Given the description of an element on the screen output the (x, y) to click on. 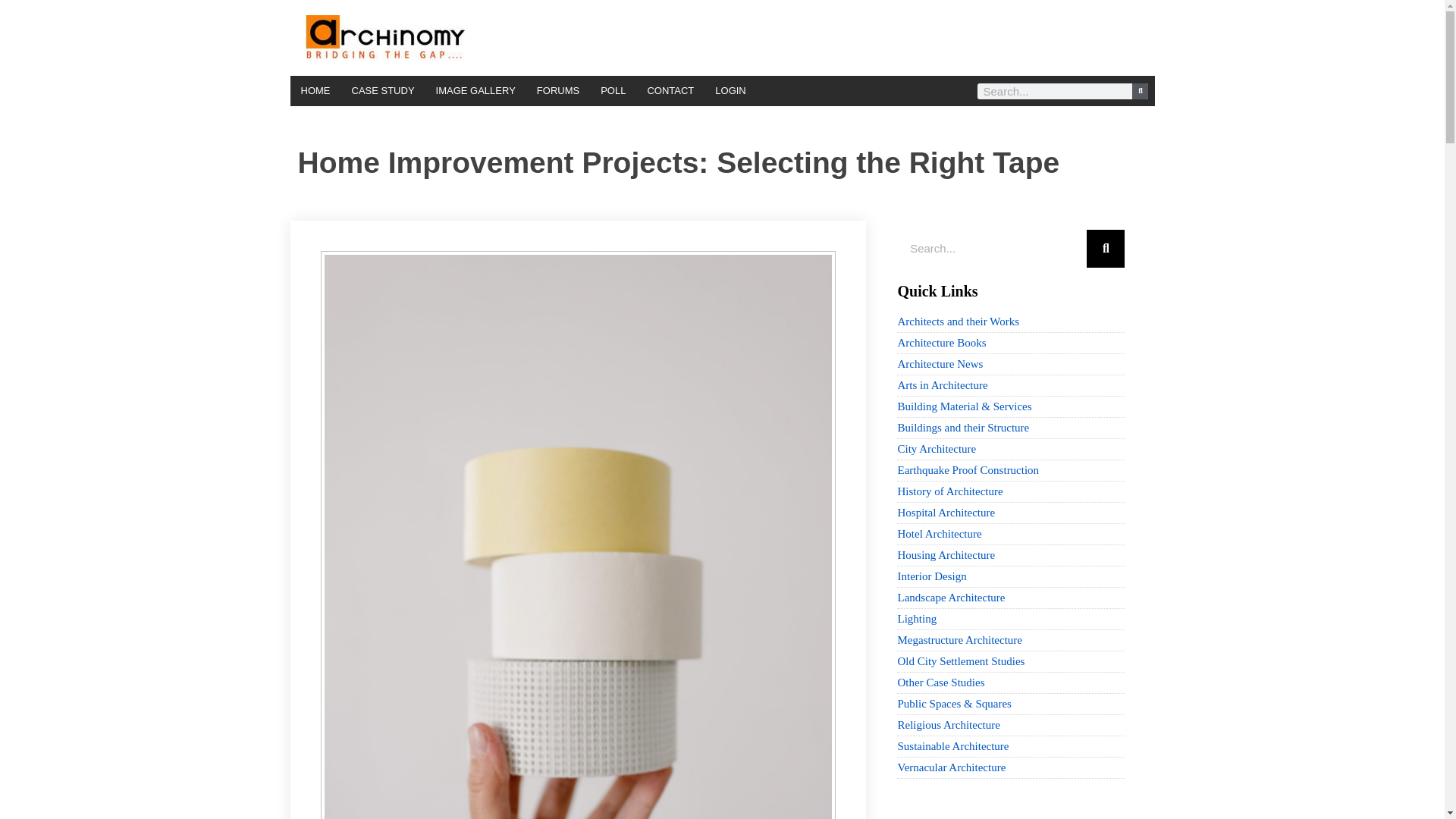
IMAGE GALLERY (475, 91)
FORUMS (557, 91)
CONTACT (670, 91)
LOGIN (729, 91)
CASE STUDY (382, 91)
POLL (612, 91)
HOME (314, 91)
